Given the description of an element on the screen output the (x, y) to click on. 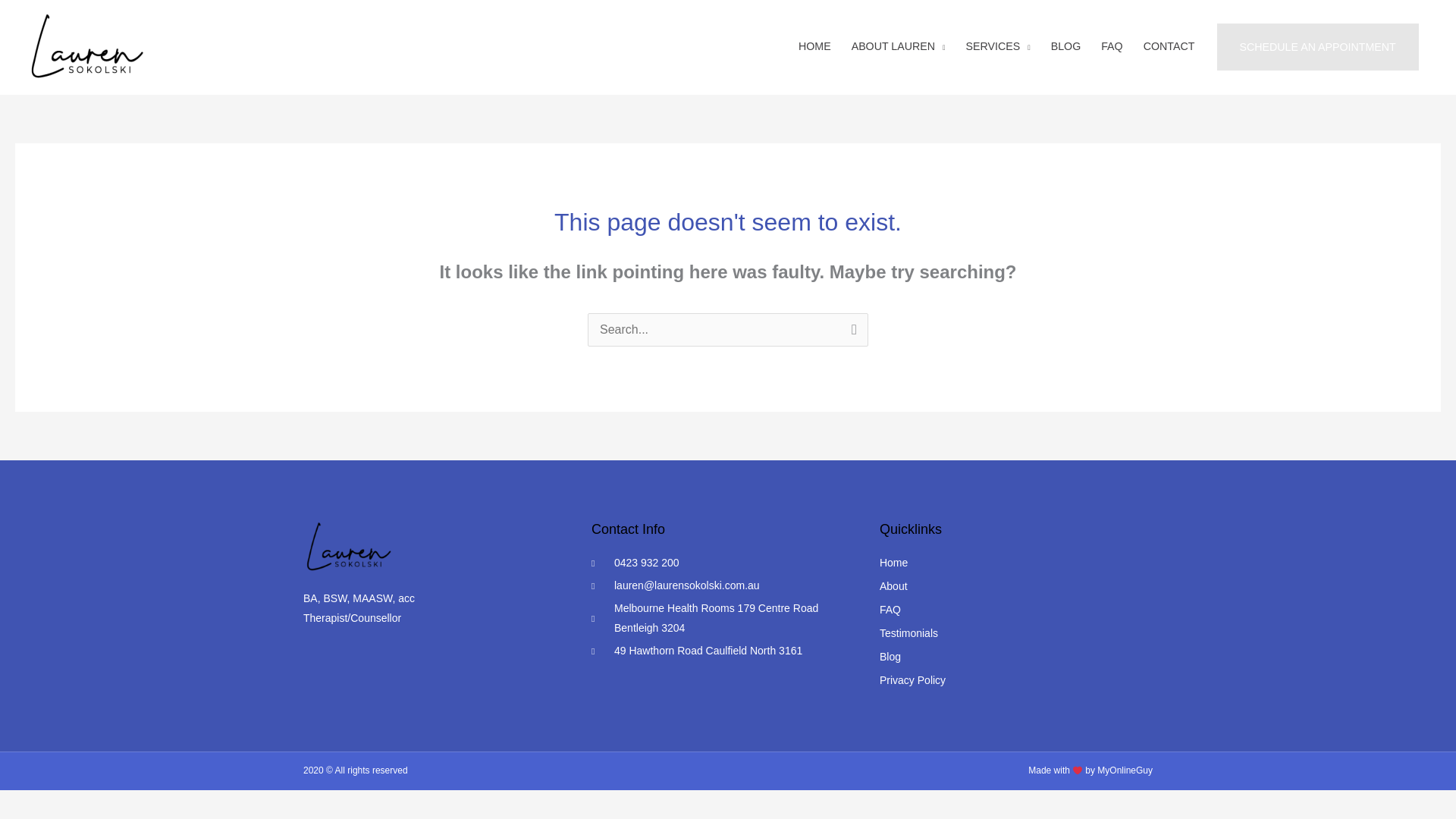
CONTACT (1170, 45)
0423 932 200 (722, 563)
Testimonials (1016, 633)
49 Hawthorn Road Caulfield North 3161 (722, 650)
SERVICES (999, 45)
SCHEDULE AN APPOINTMENT (1317, 45)
Melbourne Health Rooms 179 Centre Road Bentleigh 3204 (722, 618)
Home (1016, 563)
Made with by MyOnlineGuy (1090, 769)
Privacy Policy (1016, 680)
FAQ (1016, 609)
ABOUT LAUREN (899, 45)
HOME (816, 45)
Blog (1016, 657)
BLOG (1067, 45)
